Given the description of an element on the screen output the (x, y) to click on. 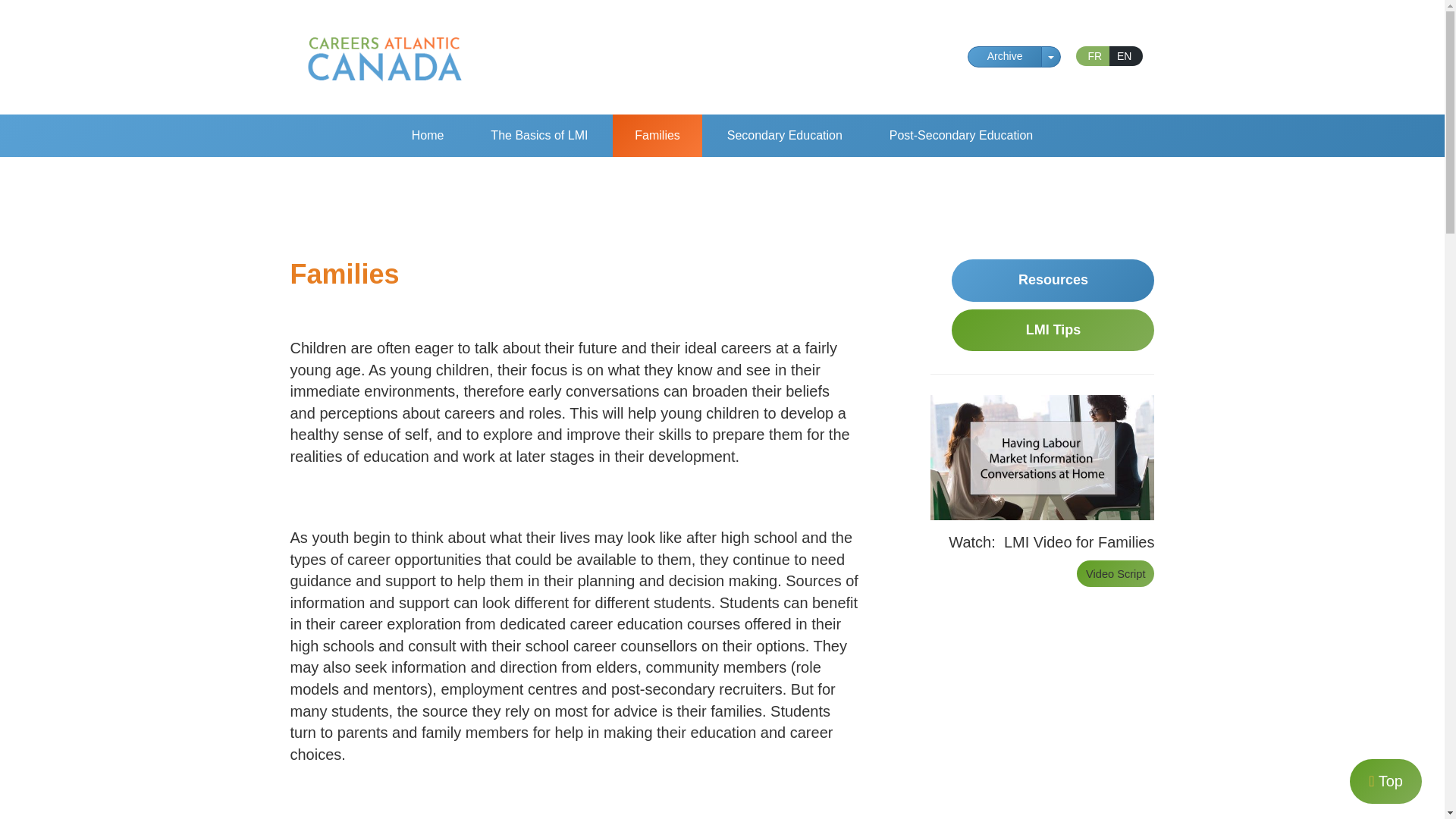
Families (656, 135)
FR (1092, 55)
LMI Tips (1053, 330)
The Basics of LMI (539, 135)
Secondary Education (784, 135)
Home (427, 135)
EN (1125, 55)
Go to top (1385, 781)
Resources (1053, 280)
Top (1385, 781)
